Given the description of an element on the screen output the (x, y) to click on. 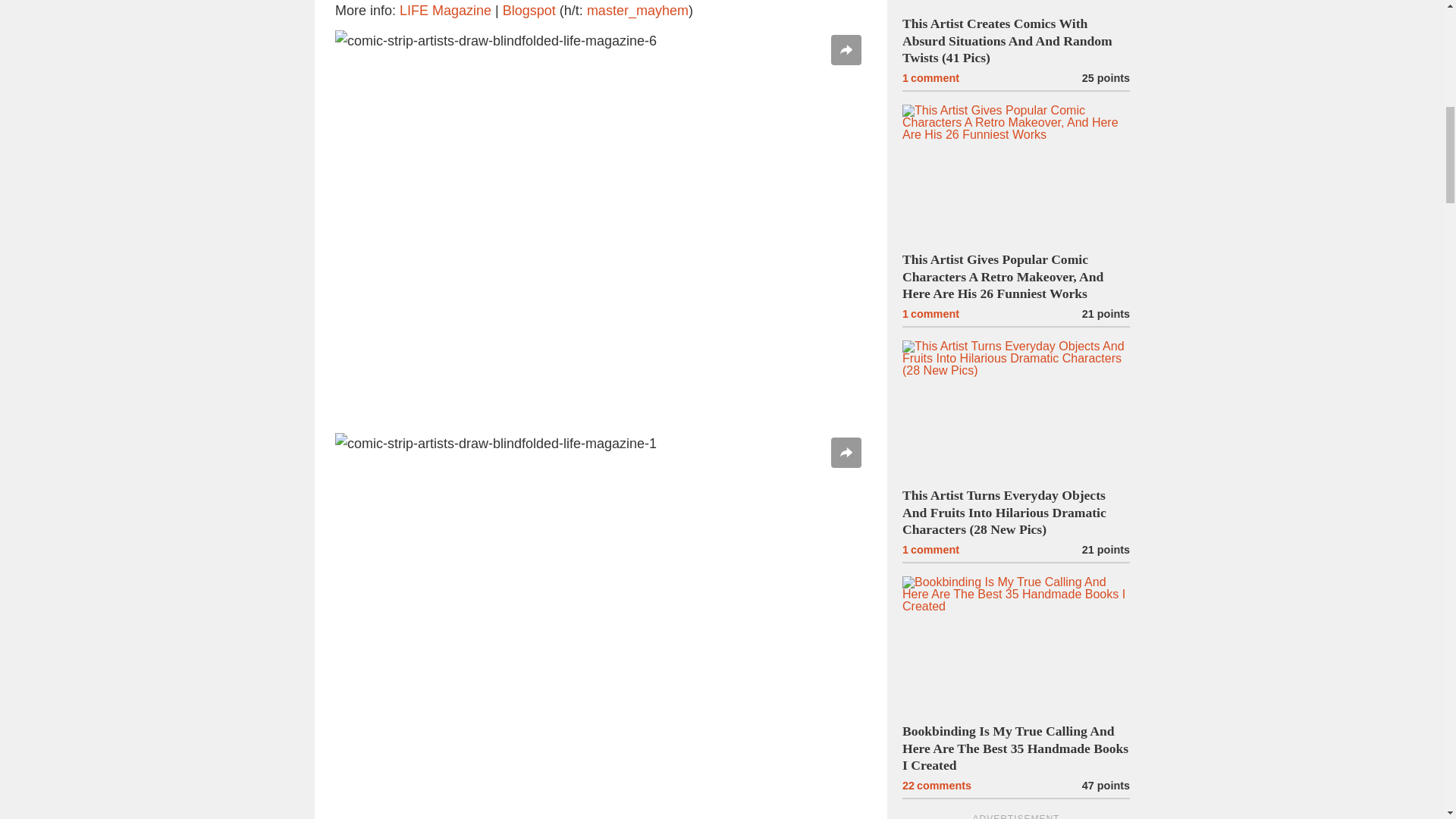
Share icon (845, 50)
Share icon (845, 452)
